Given the description of an element on the screen output the (x, y) to click on. 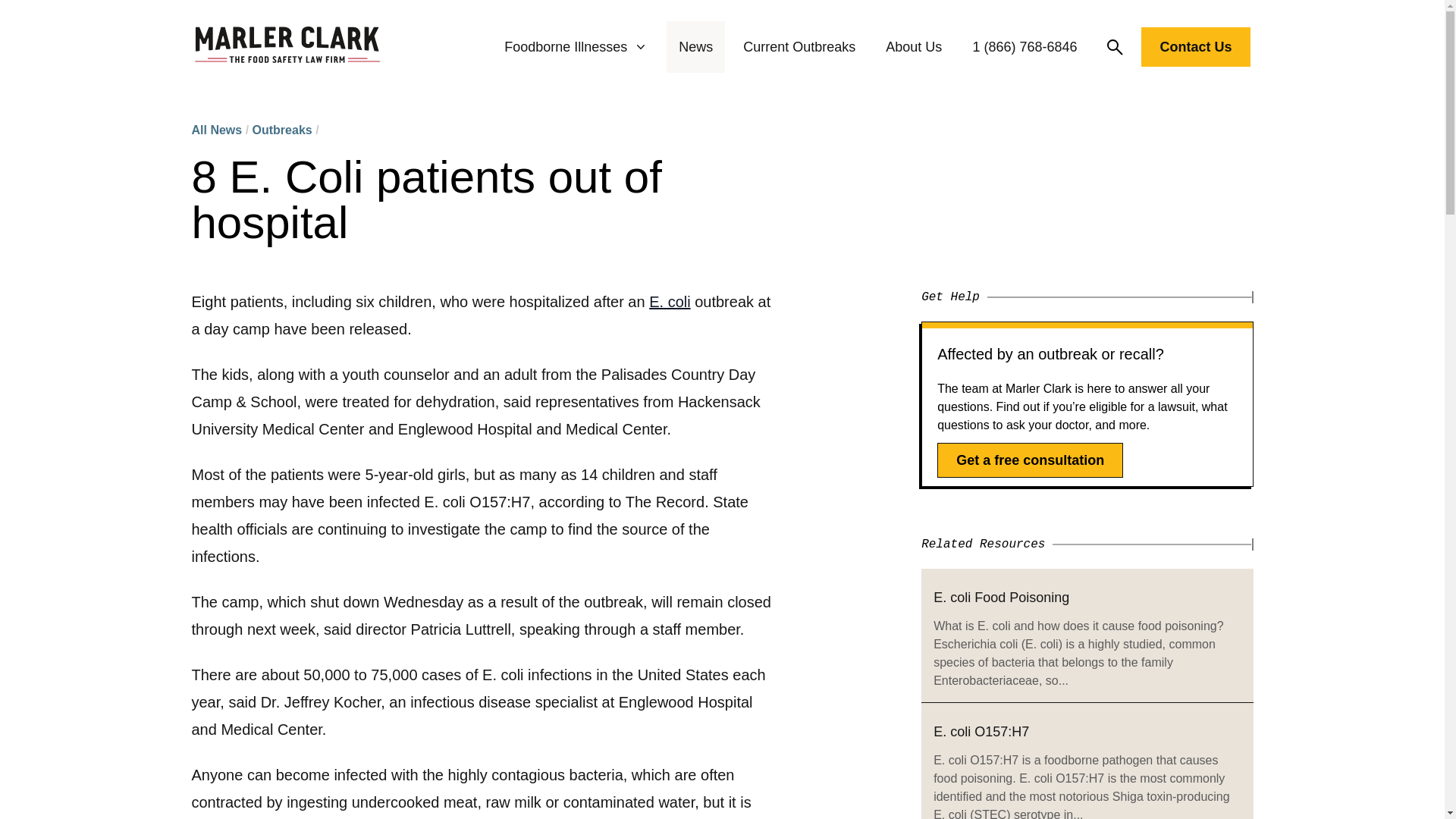
Marler Clark (286, 46)
Contact Us (1195, 49)
Current Outbreaks (799, 46)
About Us (913, 46)
All News (215, 129)
Foodborne Illnesses (576, 46)
Contact Us (1195, 46)
Outbreaks (282, 129)
E. coli (669, 301)
News (695, 46)
